Given the description of an element on the screen output the (x, y) to click on. 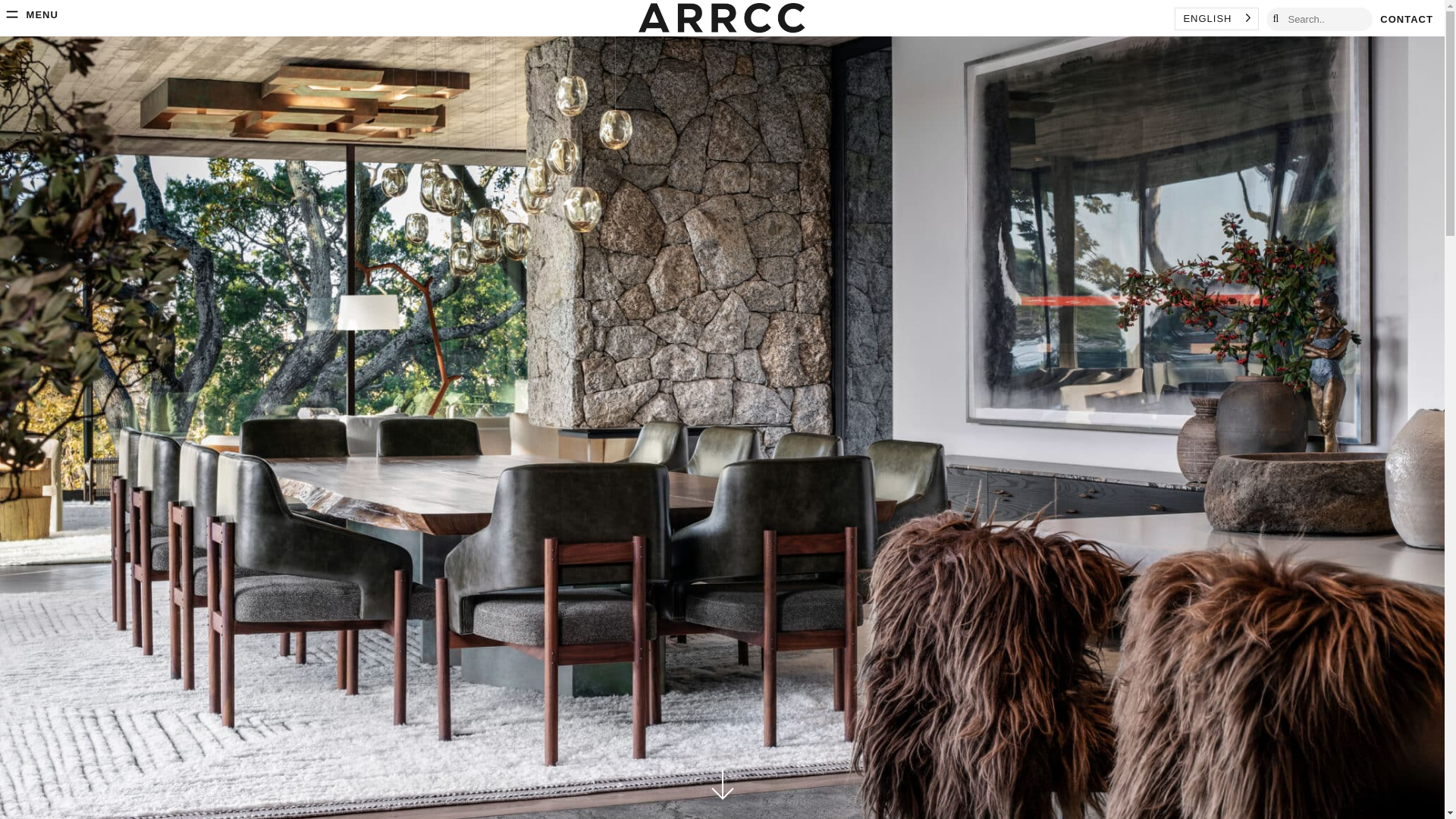
CONTACT (1406, 19)
MENU (31, 14)
